Given the description of an element on the screen output the (x, y) to click on. 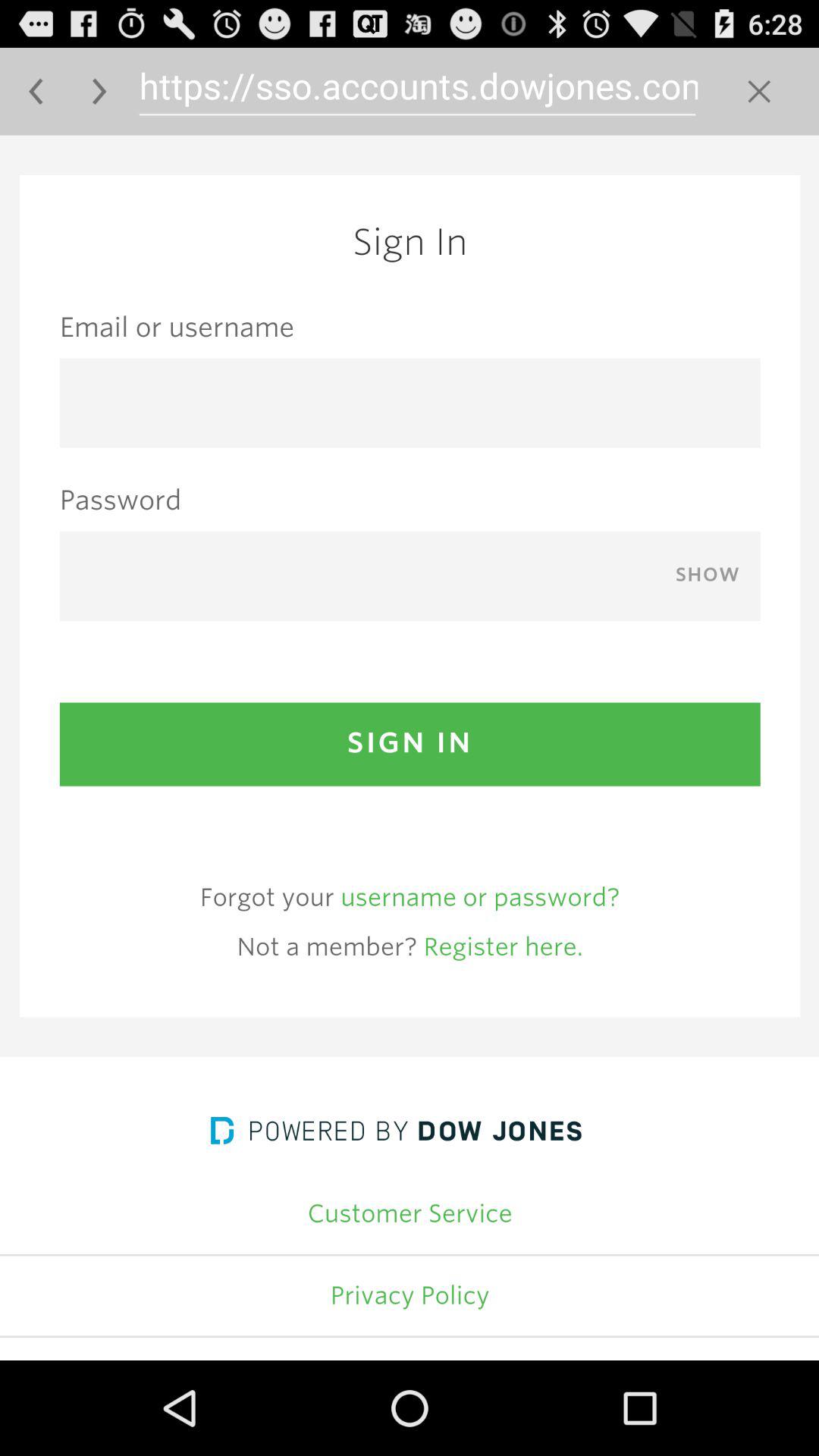
description (409, 747)
